Given the description of an element on the screen output the (x, y) to click on. 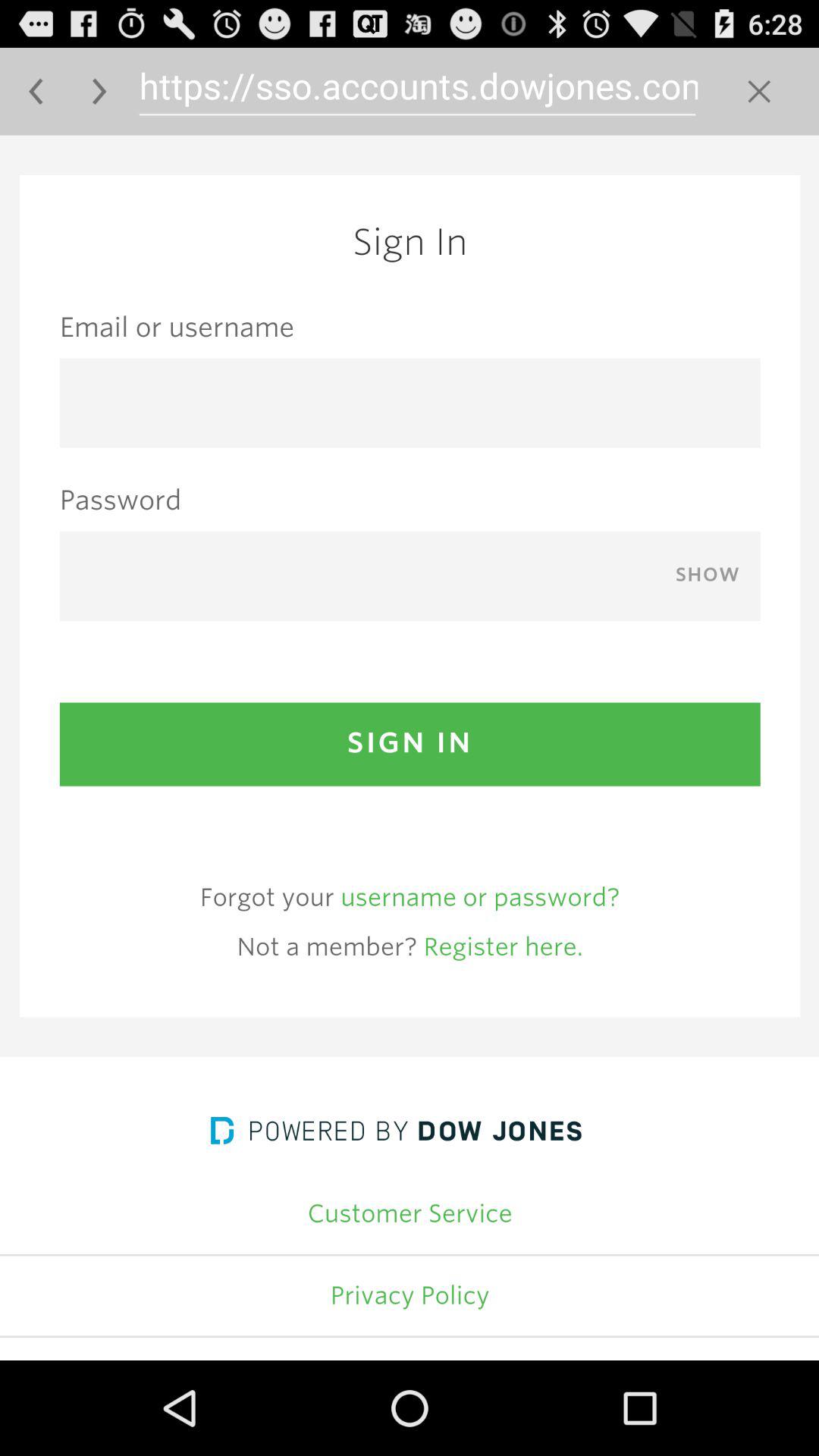
description (409, 747)
